Given the description of an element on the screen output the (x, y) to click on. 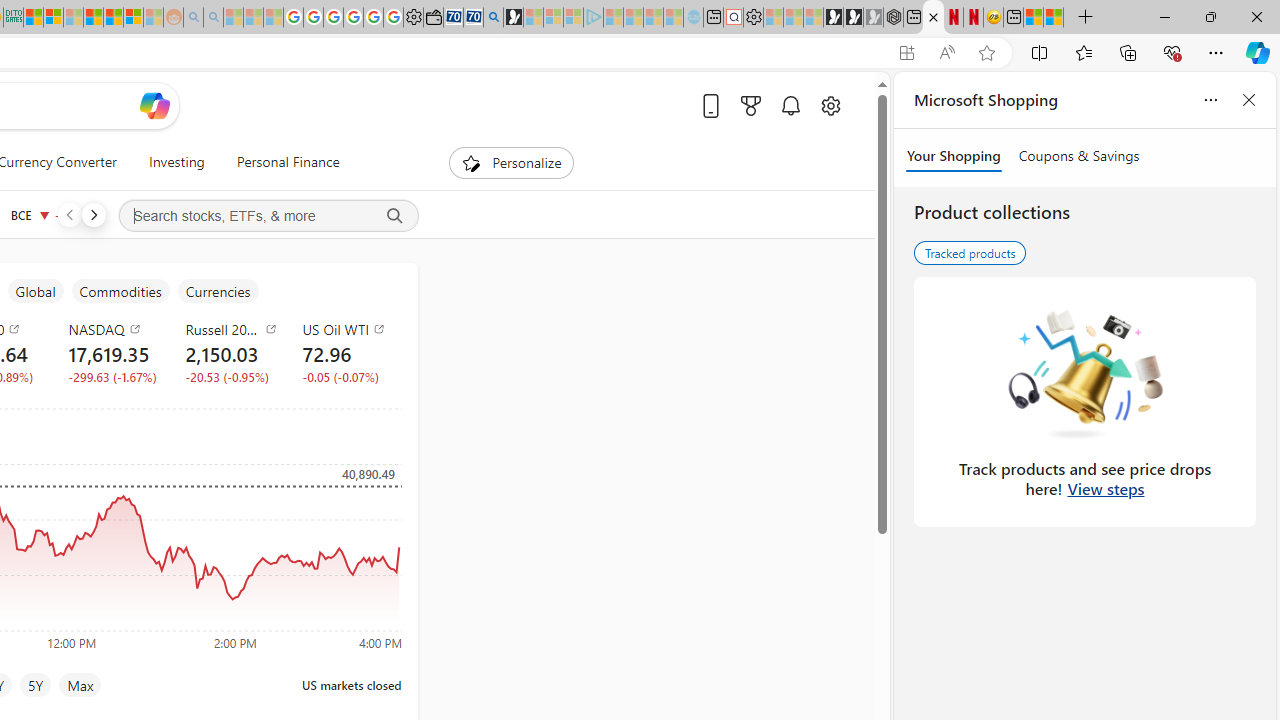
Personal Finance (280, 162)
Utah sues federal government - Search - Sleeping (212, 17)
NASDAQ (114, 328)
